Given the description of an element on the screen output the (x, y) to click on. 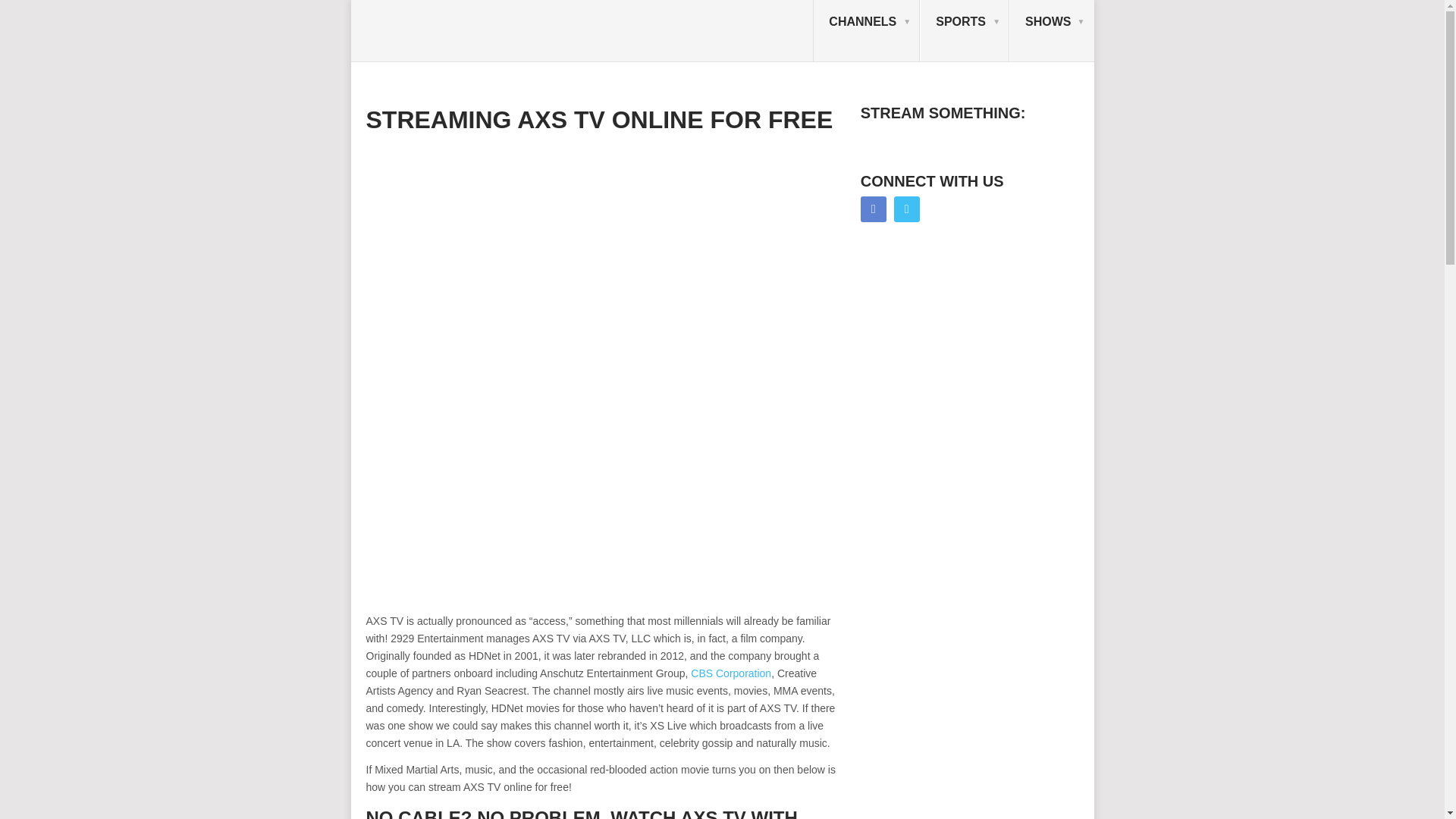
Watch TV Shows Online (1051, 31)
Facebook (873, 208)
SPORTS (964, 31)
CHANNELS (866, 31)
Watch Sports Online (964, 31)
Watch TV Channels Online (866, 31)
Twitter (906, 208)
